Given the description of an element on the screen output the (x, y) to click on. 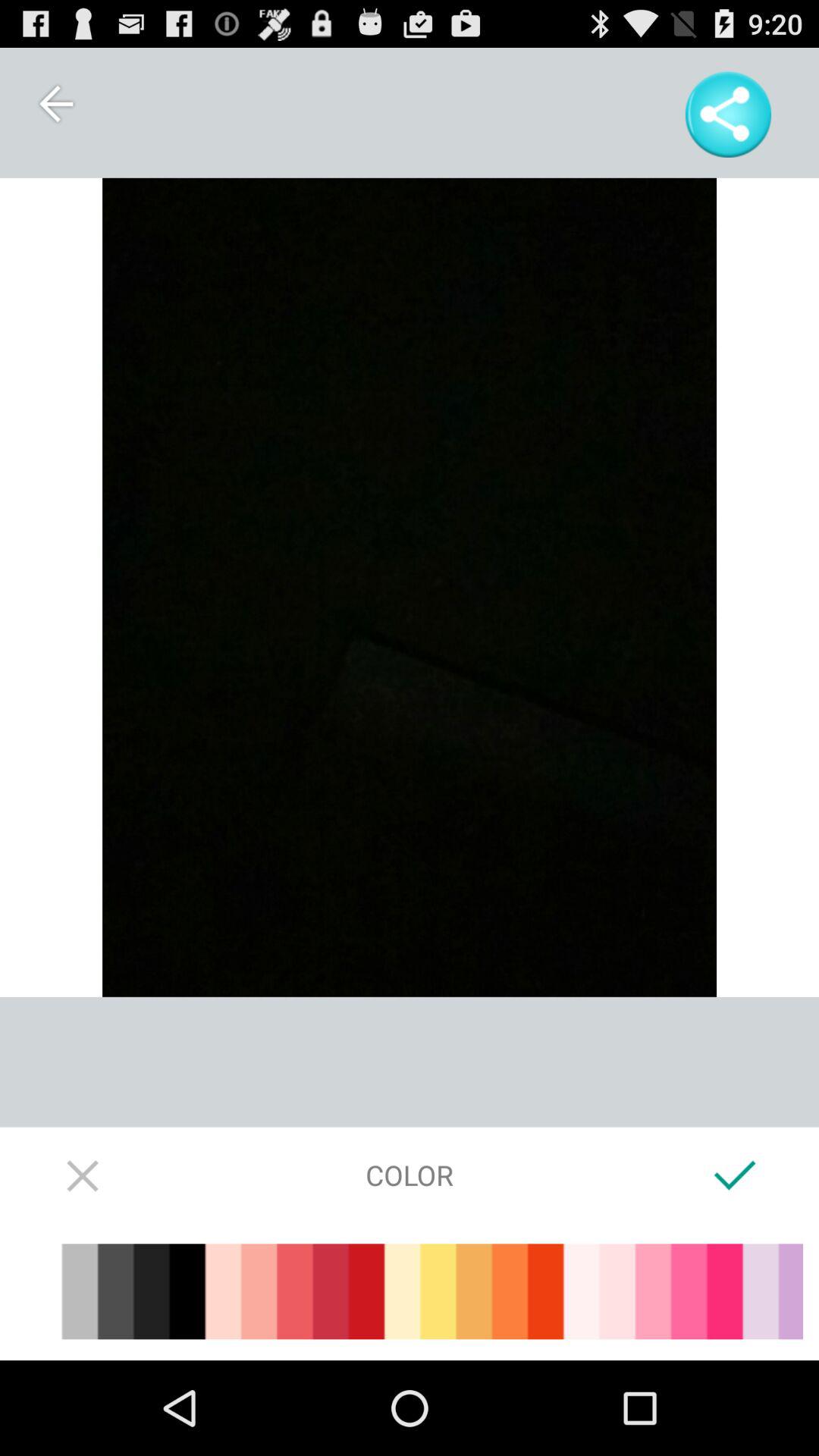
turn on the item at the bottom left corner (83, 1174)
